Given the description of an element on the screen output the (x, y) to click on. 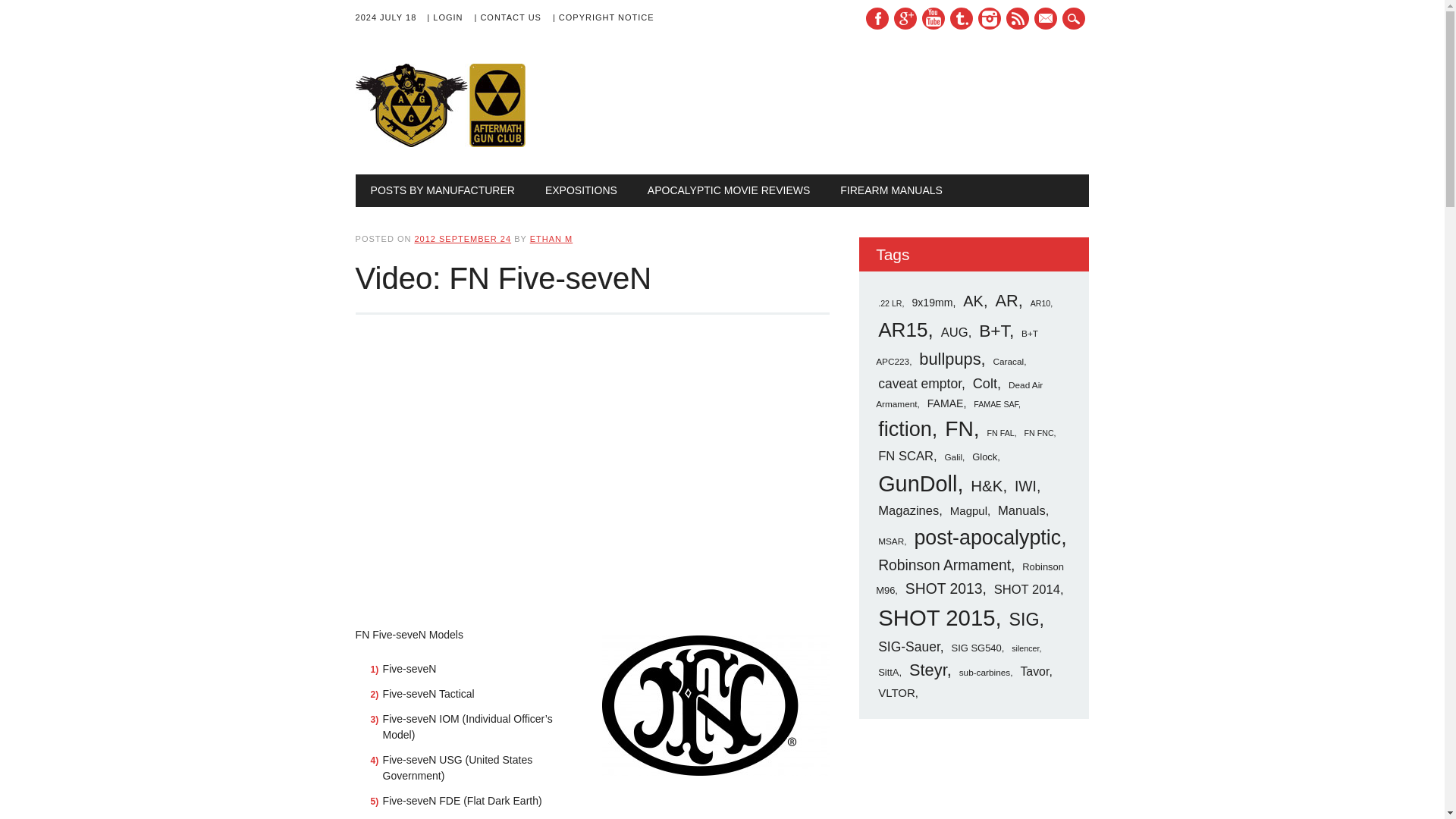
E-mail (1045, 18)
POSTS BY MANUFACTURER (442, 190)
ETHAN M (551, 238)
Aftermath Gun Club (469, 143)
Youtube (932, 18)
Instagram (989, 18)
EXPOSITIONS (580, 190)
RSS (1017, 18)
FN logo black large (715, 705)
View all posts by Ethan M (551, 238)
FIREARM MANUALS (891, 190)
APOCALYPTIC MOVIE REVIEWS (728, 190)
2012 SEPTEMBER 24 (462, 238)
Tumblr (961, 18)
4:47 am (462, 238)
